Given the description of an element on the screen output the (x, y) to click on. 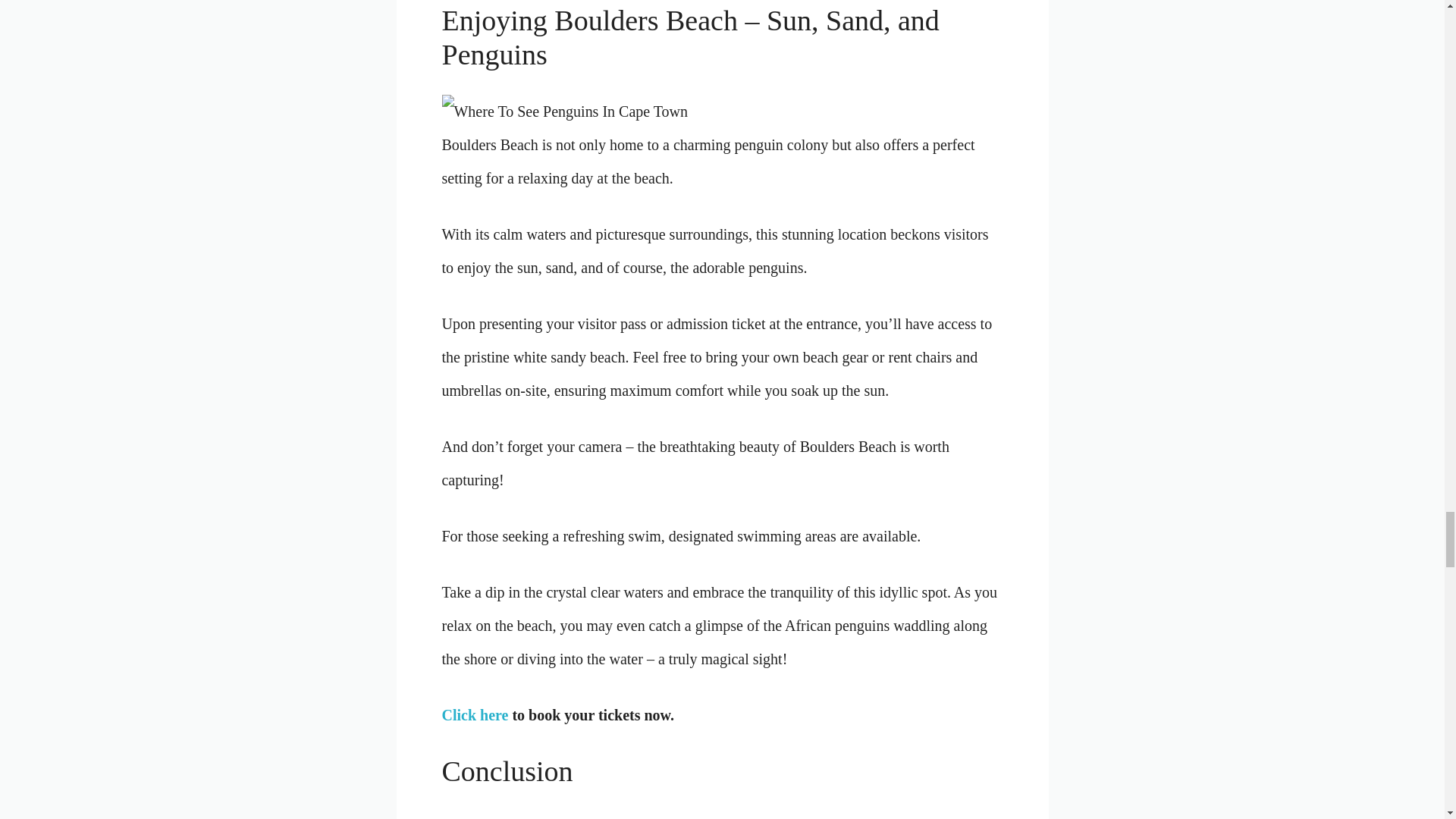
Click here (474, 714)
